Given the description of an element on the screen output the (x, y) to click on. 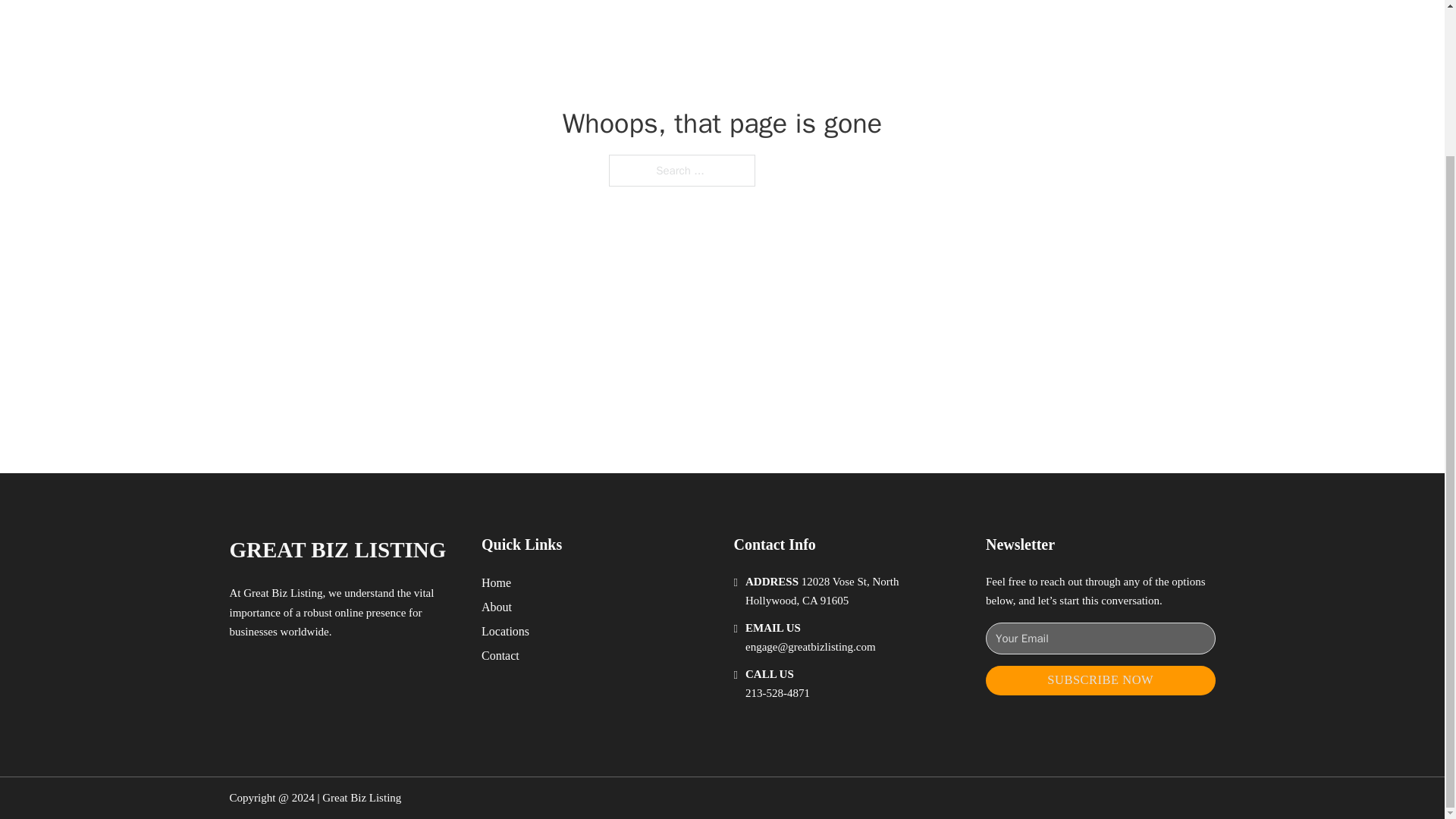
GREAT BIZ LISTING (336, 549)
Home (496, 582)
About (496, 607)
213-528-4871 (777, 693)
Contact (500, 655)
Locations (505, 630)
SUBSCRIBE NOW (1100, 680)
